Given the description of an element on the screen output the (x, y) to click on. 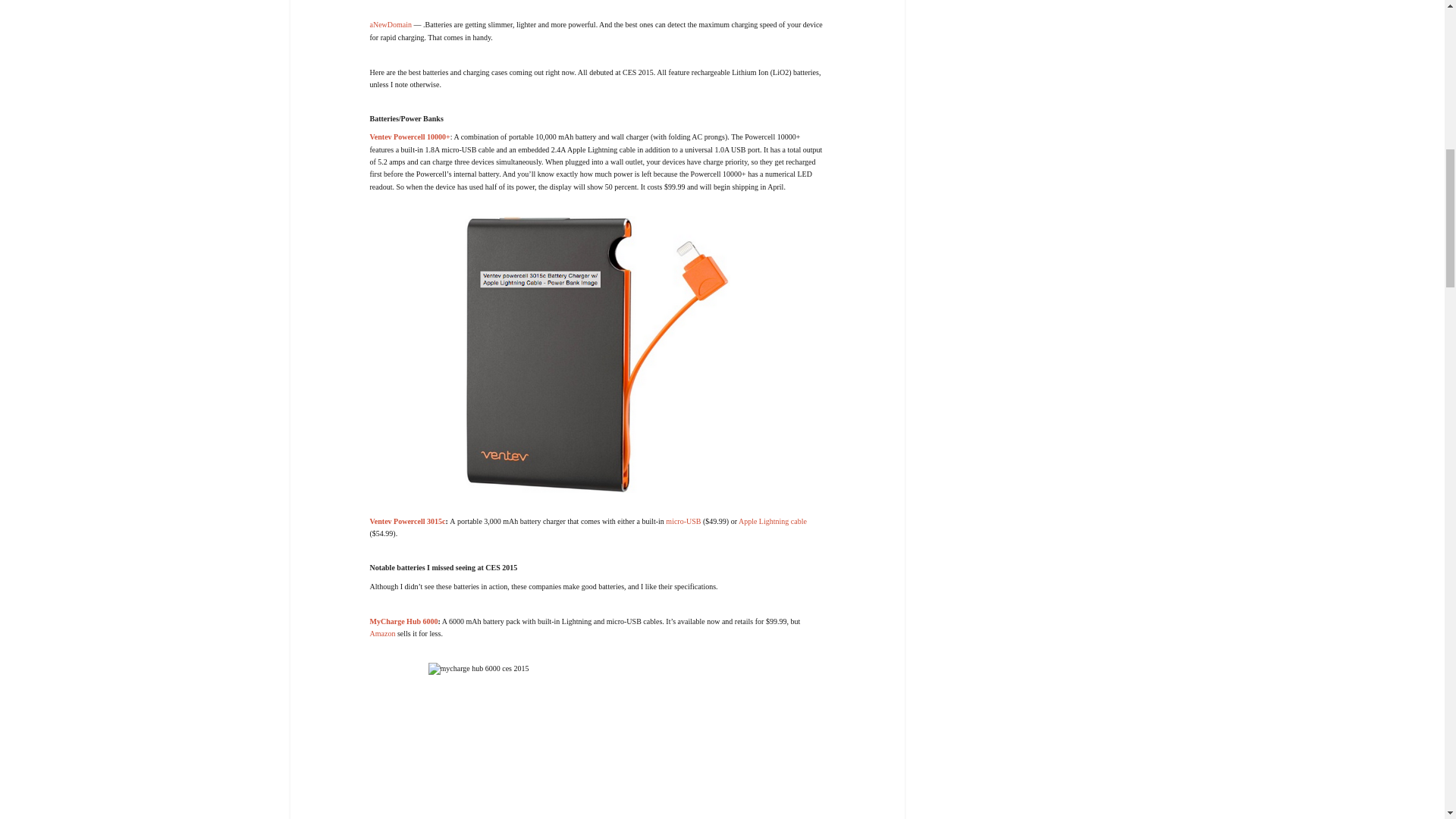
micro-USB (682, 520)
Ventev Powercell 3015c (407, 520)
aNewDomain (390, 24)
Apple Lightning cable (772, 520)
MyCharge Hub 6000 (403, 621)
Amazon (382, 633)
